Given the description of an element on the screen output the (x, y) to click on. 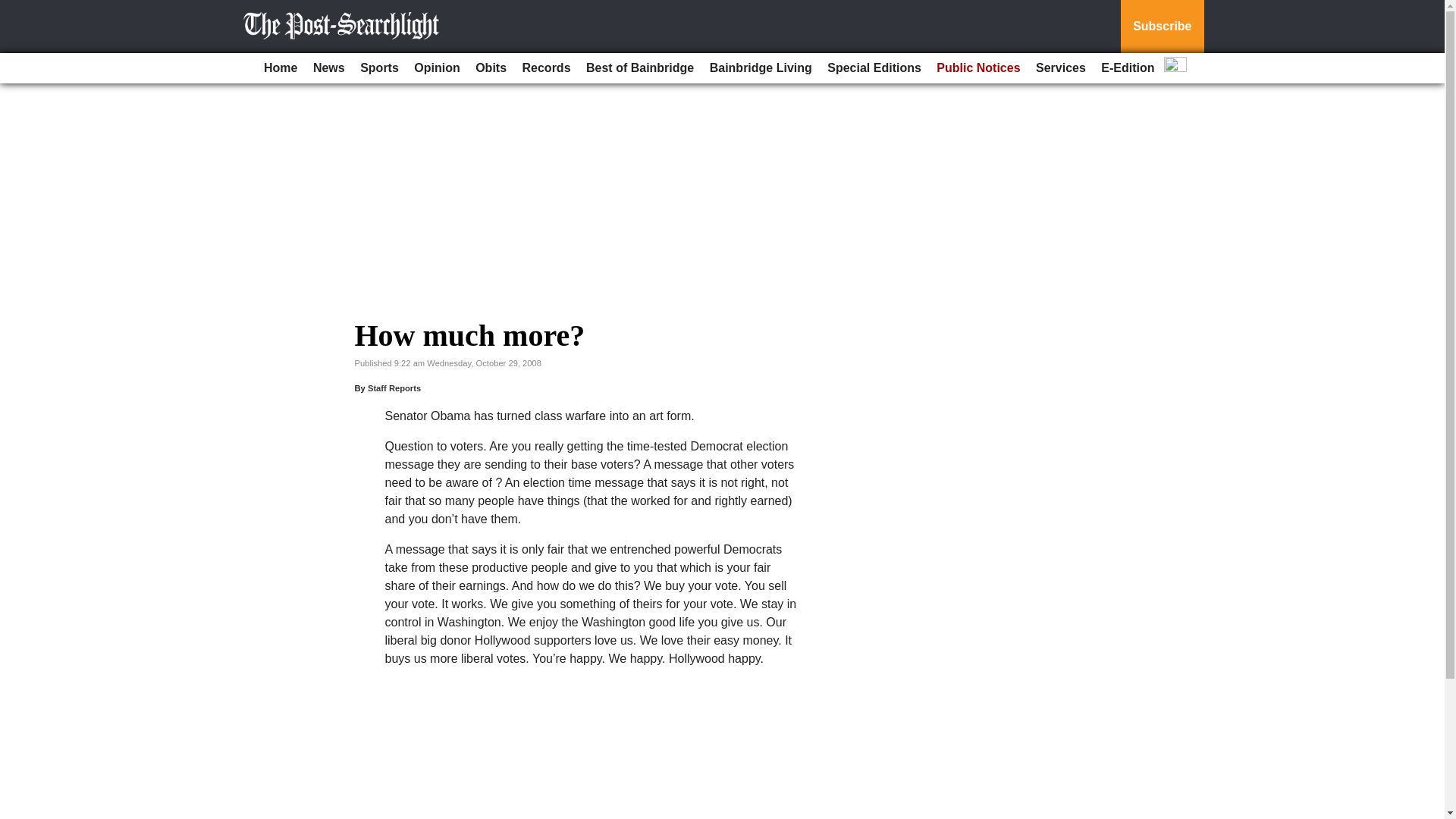
Records (546, 68)
Staff Reports (394, 388)
Public Notices (978, 68)
Sports (378, 68)
Go (13, 9)
Home (279, 68)
Obits (490, 68)
News (328, 68)
Special Editions (874, 68)
Bainbridge Living (760, 68)
